Given the description of an element on the screen output the (x, y) to click on. 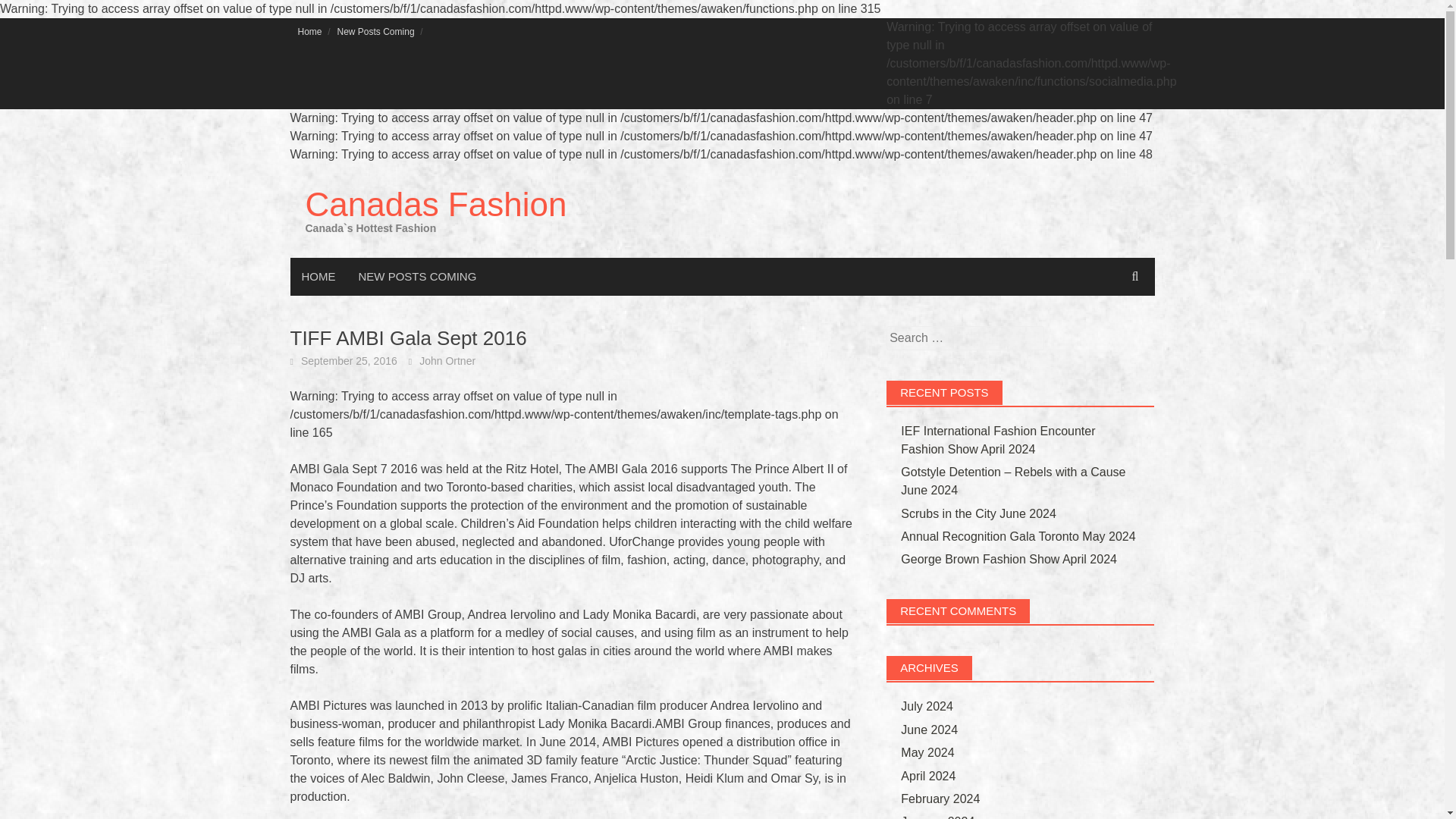
New Posts Coming (376, 31)
HOME (317, 276)
Canadas Fashion (435, 203)
John Ortner (447, 360)
September 25, 2016 (349, 360)
Home (309, 31)
NEW POSTS COMING (417, 276)
